Given the description of an element on the screen output the (x, y) to click on. 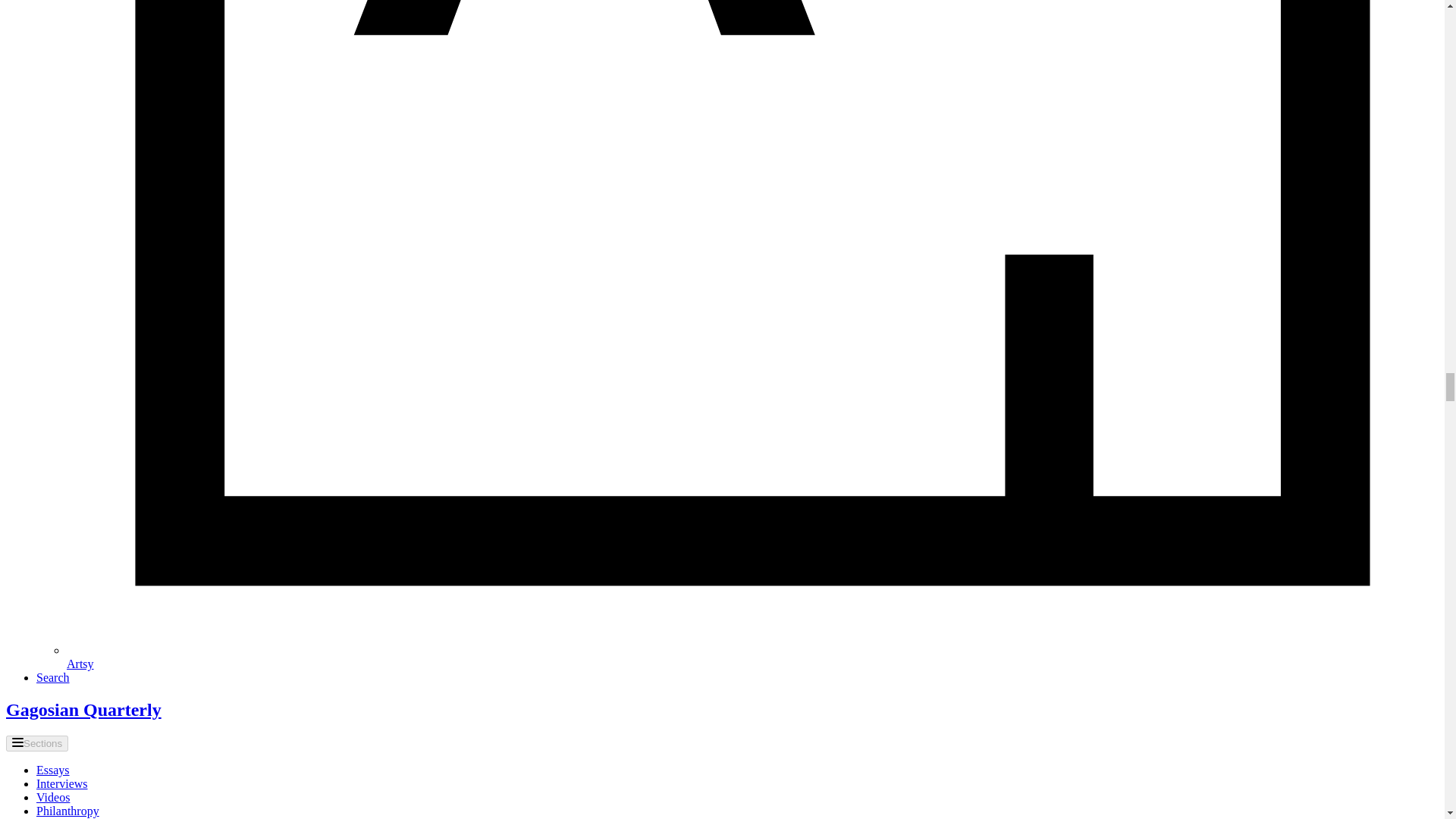
Philanthropy (67, 810)
Gagosian Quarterly (83, 709)
Search (52, 676)
Sections (36, 743)
Interviews (61, 783)
Videos (52, 797)
Essays (52, 769)
